Given the description of an element on the screen output the (x, y) to click on. 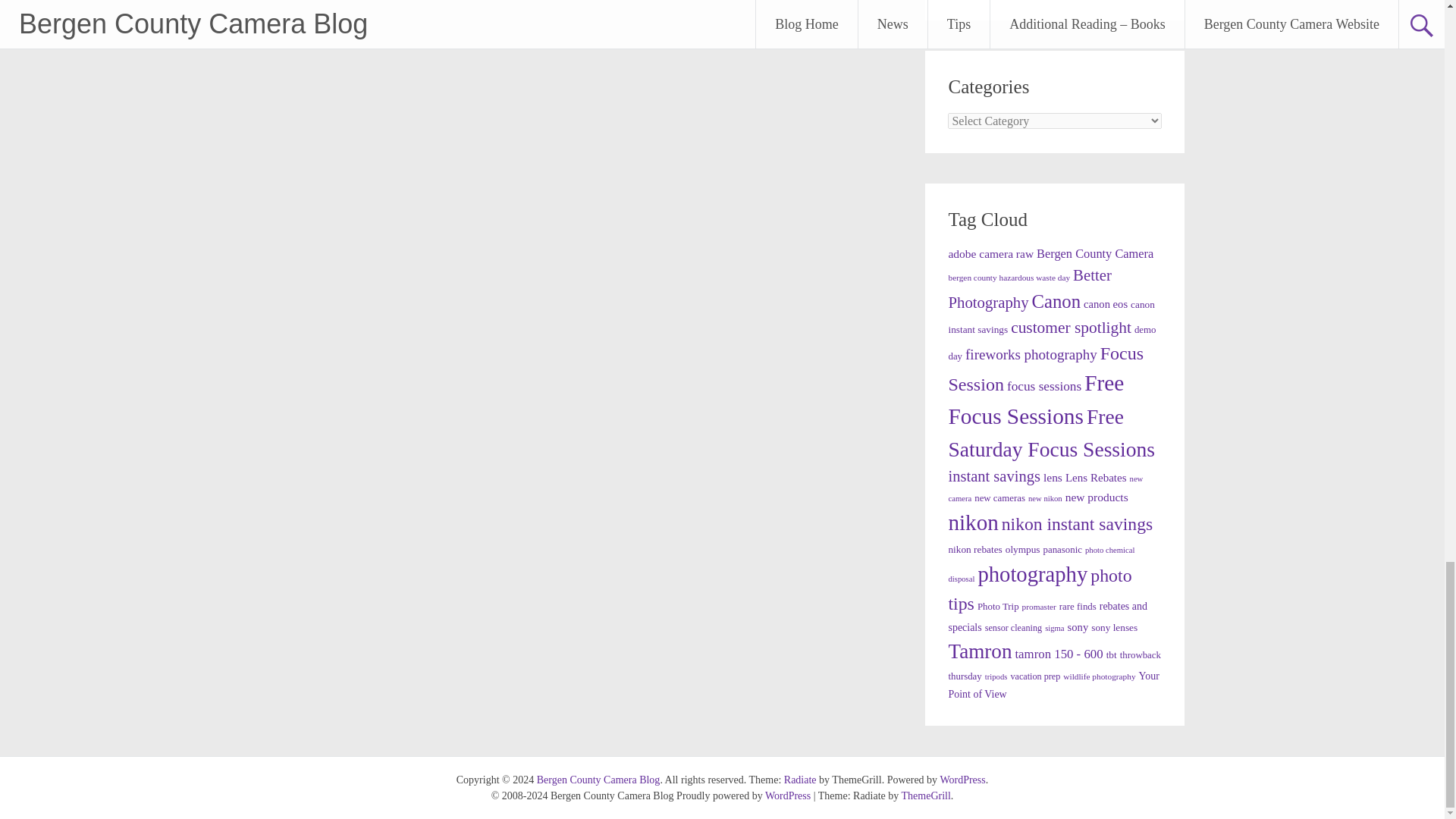
Bergen County Camera Blog (599, 779)
Radiate (800, 779)
WordPress (962, 779)
